Given the description of an element on the screen output the (x, y) to click on. 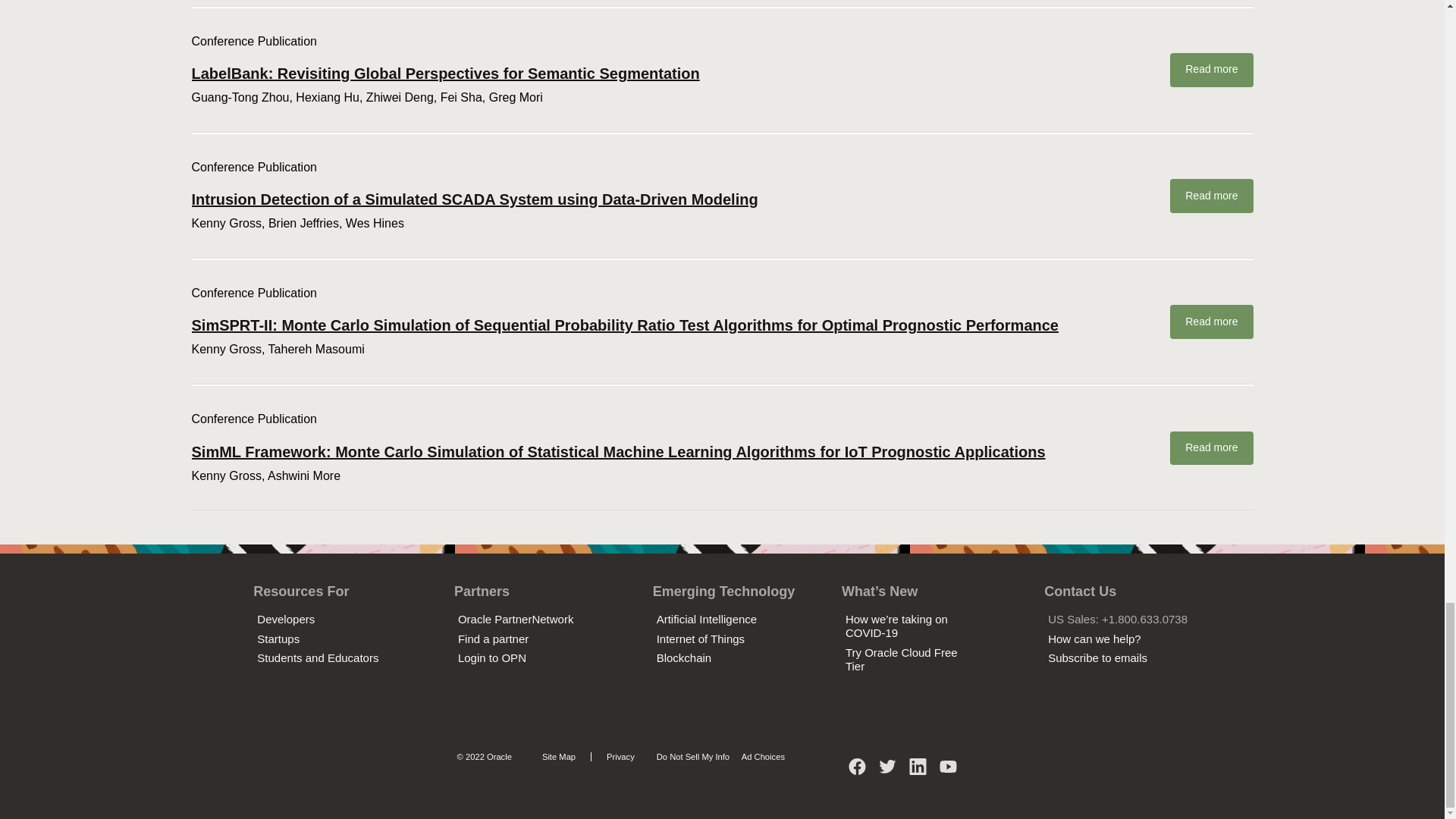
Students and Educators (317, 657)
Oracle PartnerNetwork (515, 618)
Login to OPN (491, 657)
Read more (1211, 195)
Read more (1211, 69)
Follow Oracle on Twitter (887, 771)
Oracle on Facebook (857, 771)
Developers (285, 618)
Read more (1211, 448)
Read more (1211, 321)
Watch Oracle on YouTube (948, 771)
Find a partner (493, 638)
